Given the description of an element on the screen output the (x, y) to click on. 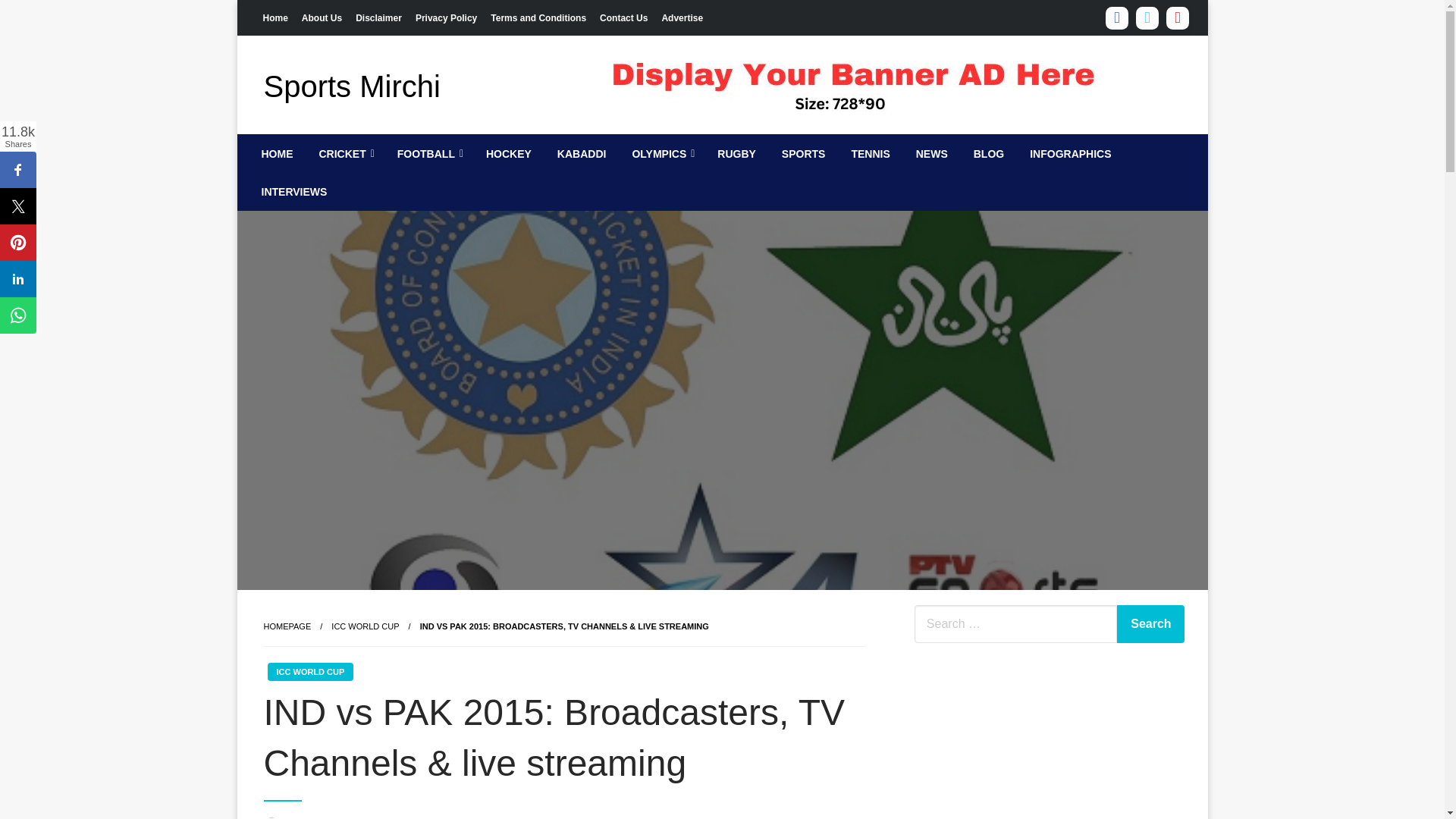
TENNIS (870, 153)
Aman Bansal (319, 818)
HOME (276, 153)
Advertisement (1027, 737)
HOMEPAGE (287, 625)
ICC WORLD CUP (364, 625)
INTERVIEWS (294, 191)
Contact Us (622, 17)
Homepage (287, 625)
KABADDI (582, 153)
